Given the description of an element on the screen output the (x, y) to click on. 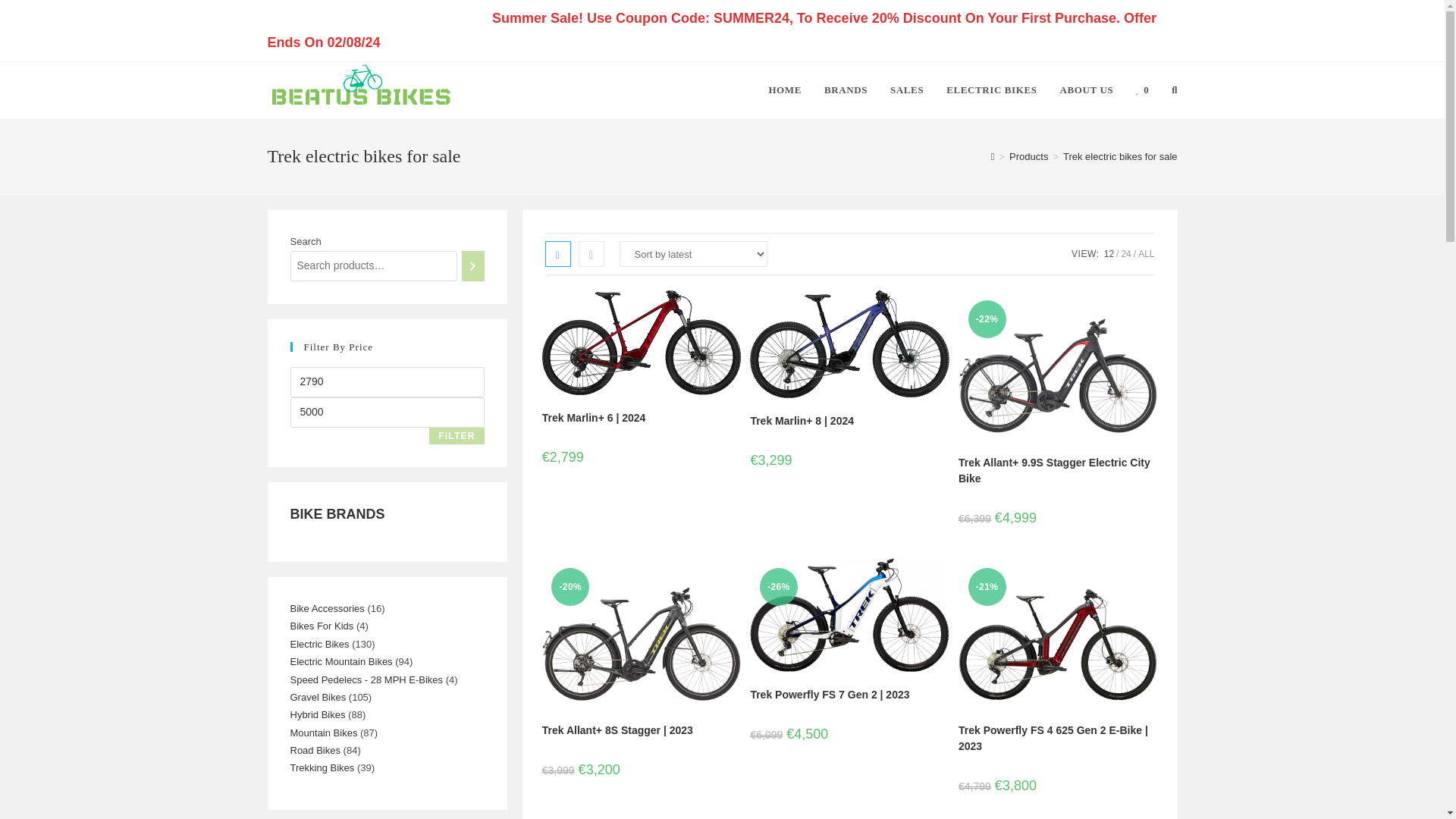
24 (1126, 253)
ELECTRIC BIKES (991, 89)
SALES (906, 89)
HOME (784, 89)
Contact Us (437, 17)
Products (1028, 156)
5000 (386, 412)
12 (1108, 253)
Grid view (557, 253)
BRANDS (845, 89)
My Account (304, 17)
Trek electric bikes for sale (1119, 156)
Shop (372, 17)
2790 (386, 381)
ALL (1146, 253)
